Given the description of an element on the screen output the (x, y) to click on. 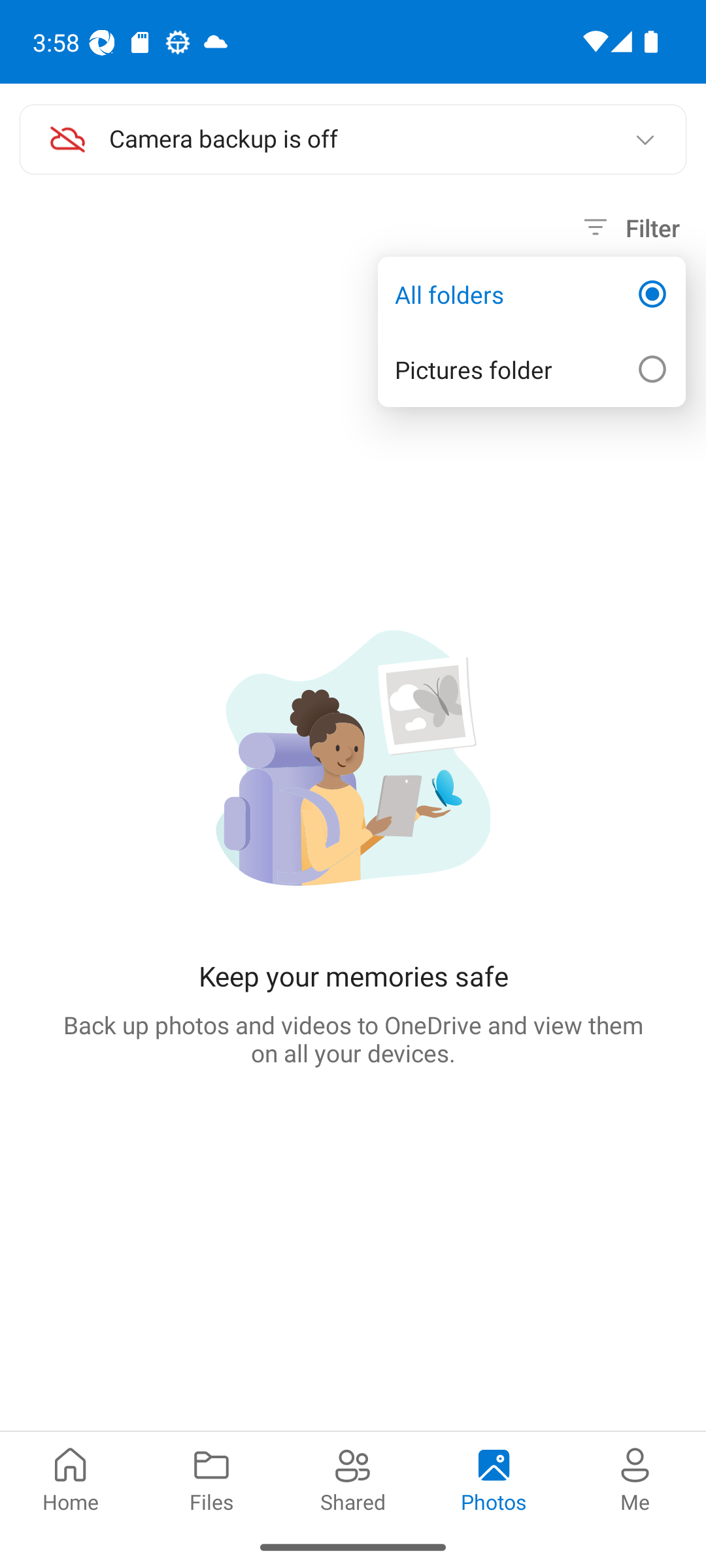
All folders (531, 294)
Pictures folder (531, 369)
